Given the description of an element on the screen output the (x, y) to click on. 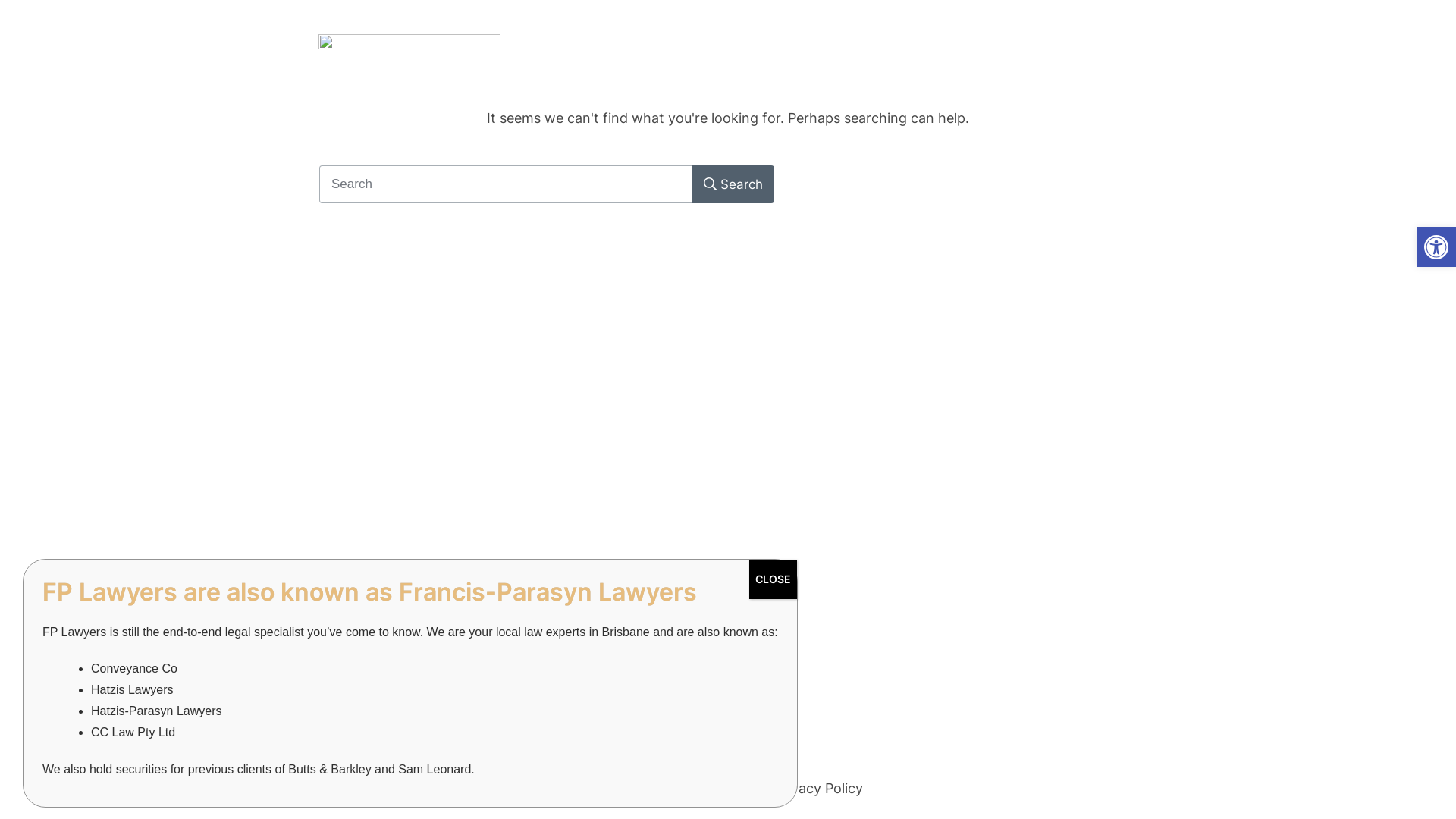
CLOSE Element type: text (773, 579)
Search Element type: text (733, 184)
Privacy Policy Element type: text (818, 787)
